Given the description of an element on the screen output the (x, y) to click on. 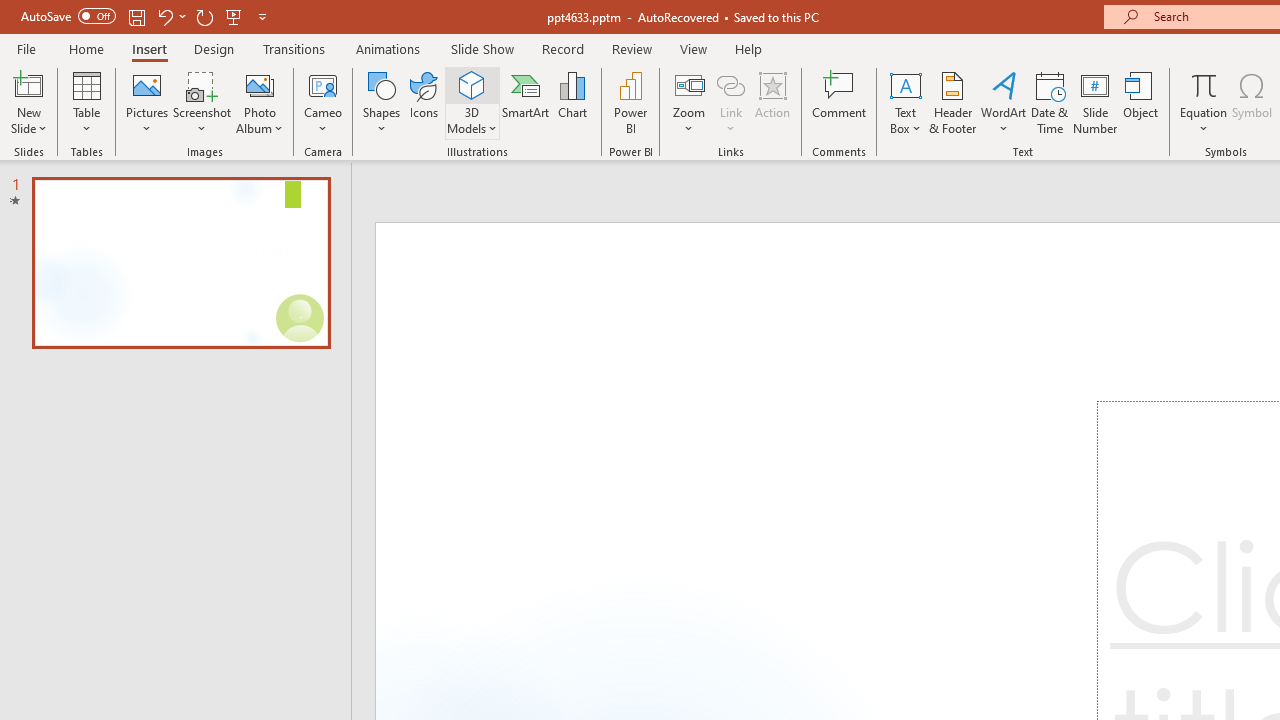
New Photo Album... (259, 84)
3D Models (472, 102)
SmartArt... (525, 102)
Chart... (572, 102)
Equation (1203, 102)
Comment (839, 102)
Cameo (323, 84)
Cameo (323, 102)
